Given the description of an element on the screen output the (x, y) to click on. 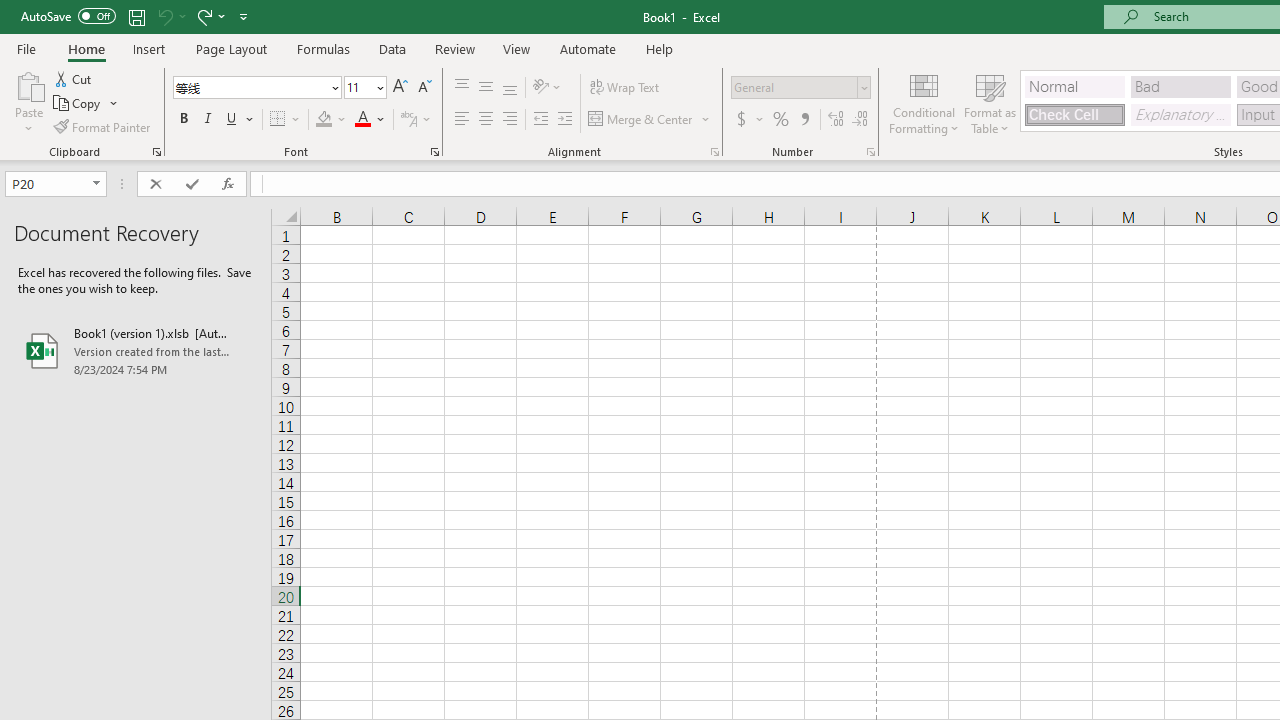
Bottom Border (278, 119)
Show Phonetic Field (408, 119)
Merge & Center (649, 119)
Redo (203, 15)
Customize Quick Access Toolbar (244, 15)
